Given the description of an element on the screen output the (x, y) to click on. 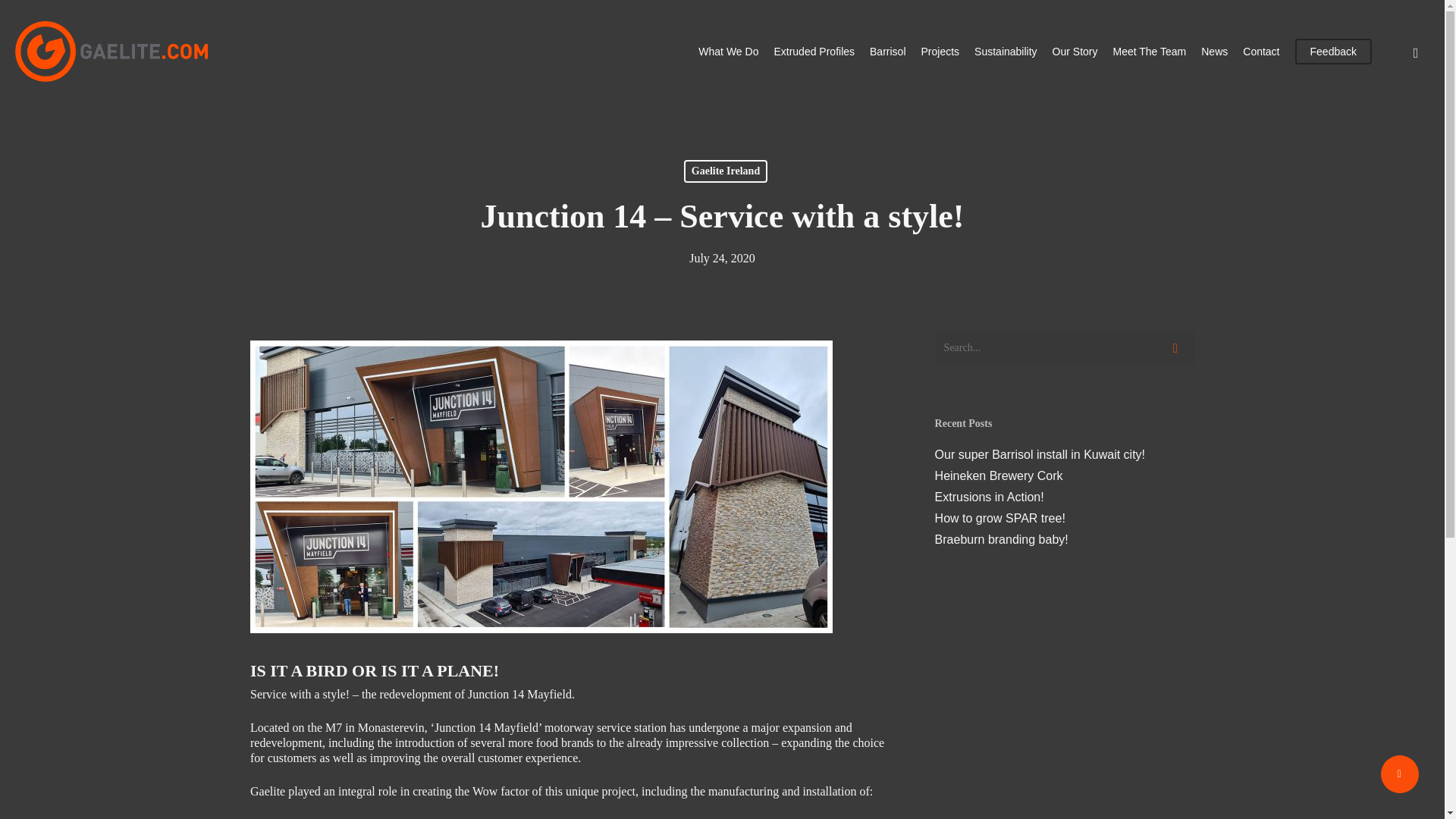
How to grow SPAR tree! (1063, 518)
Projects (939, 51)
Extrusions in Action! (1063, 497)
Contact (1261, 51)
Barrisol (887, 51)
Heineken Brewery Cork (1063, 476)
Braeburn branding baby! (1063, 539)
What We Do (728, 51)
Our Story (1074, 51)
News (1214, 51)
linkedin (1415, 50)
Feedback (1333, 51)
Meet The Team (1149, 51)
Extruded Profiles (813, 51)
Our super Barrisol install in Kuwait city! (1063, 454)
